Given the description of an element on the screen output the (x, y) to click on. 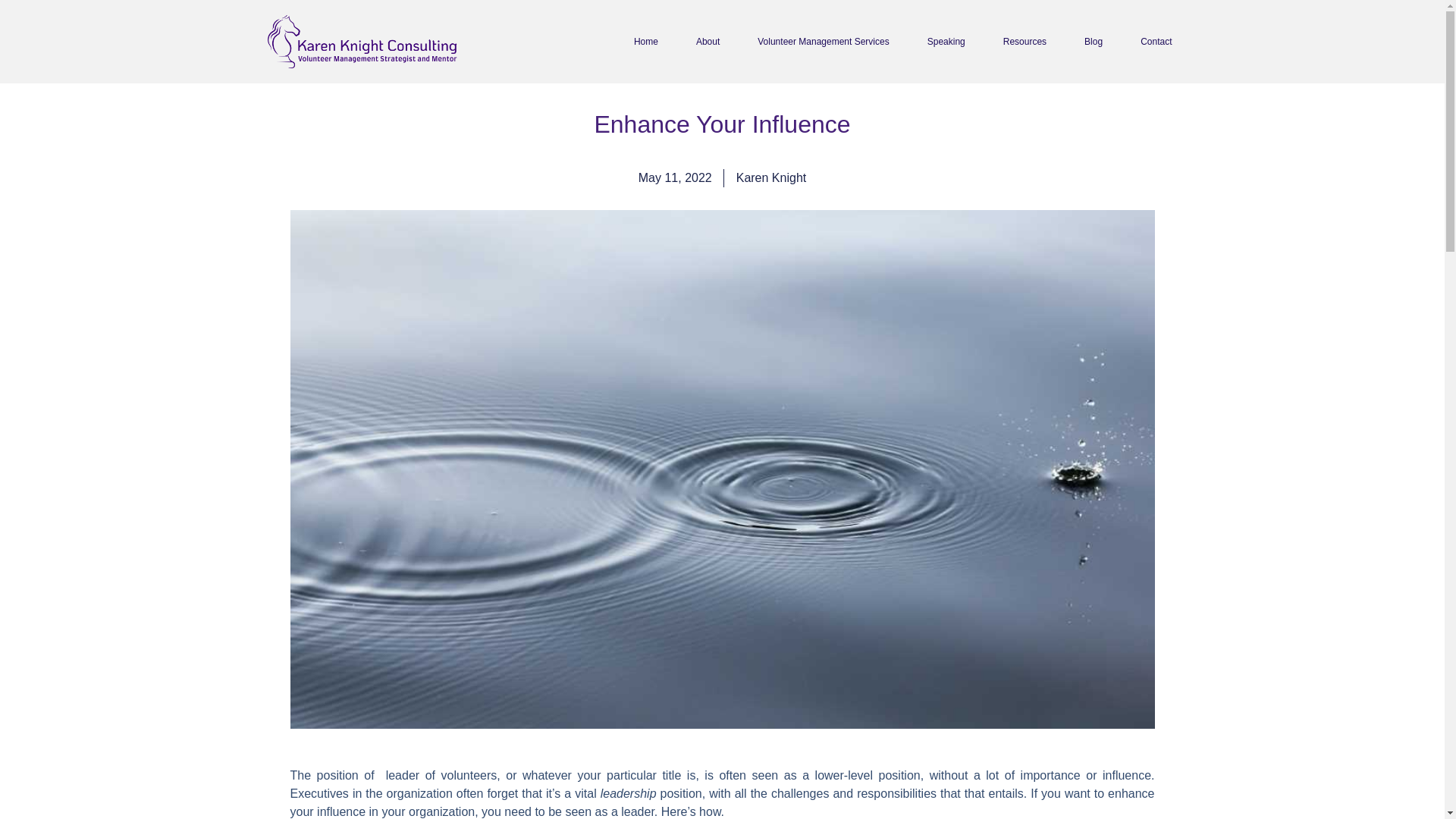
Volunteer Management Services (822, 41)
Karen Knight (771, 177)
Blog (1093, 41)
May 11, 2022 (675, 177)
Speaking (946, 41)
About (707, 41)
Home (645, 41)
Contact (1155, 41)
Resources (1024, 41)
